Given the description of an element on the screen output the (x, y) to click on. 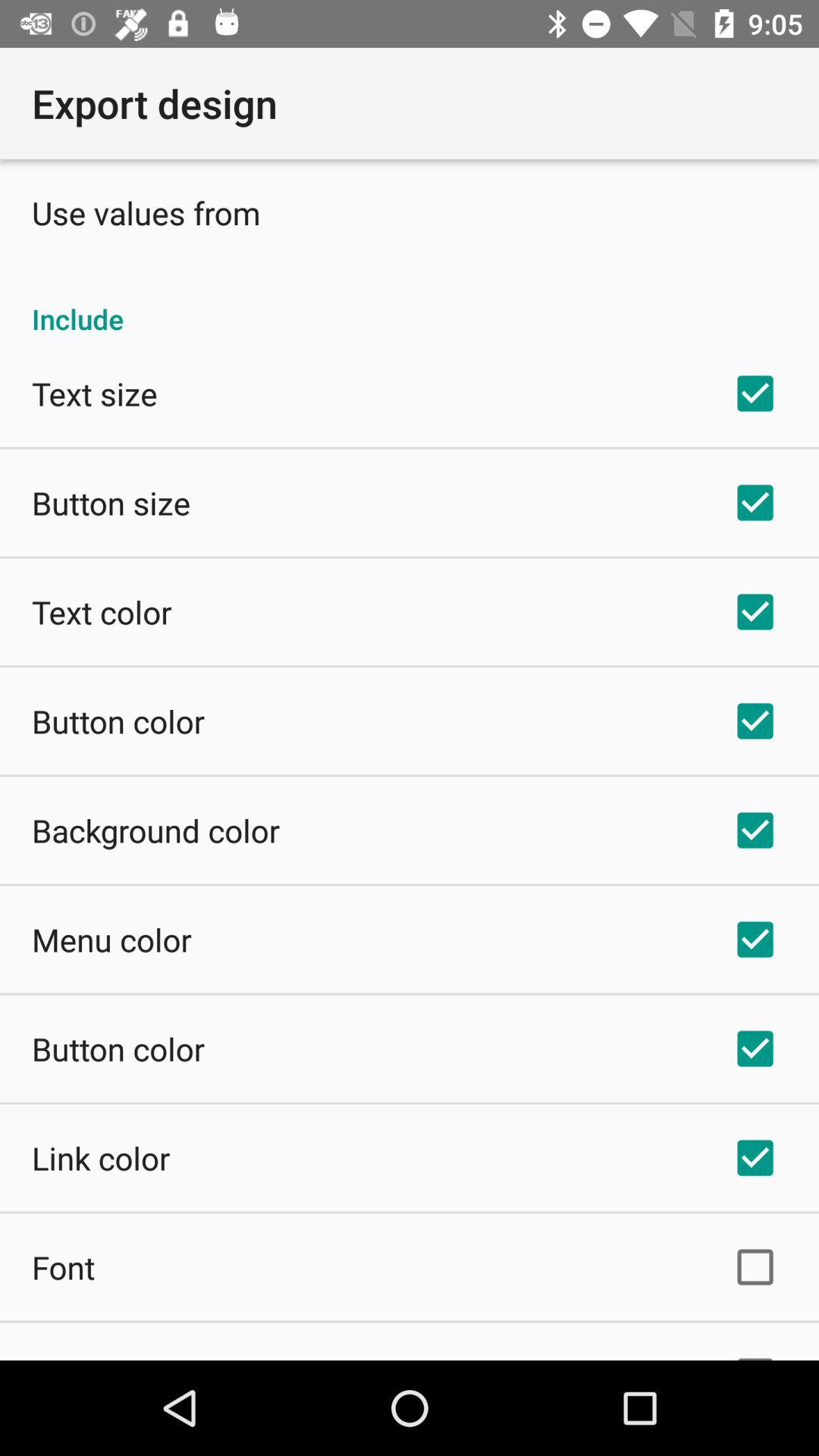
click button size (110, 502)
